Given the description of an element on the screen output the (x, y) to click on. 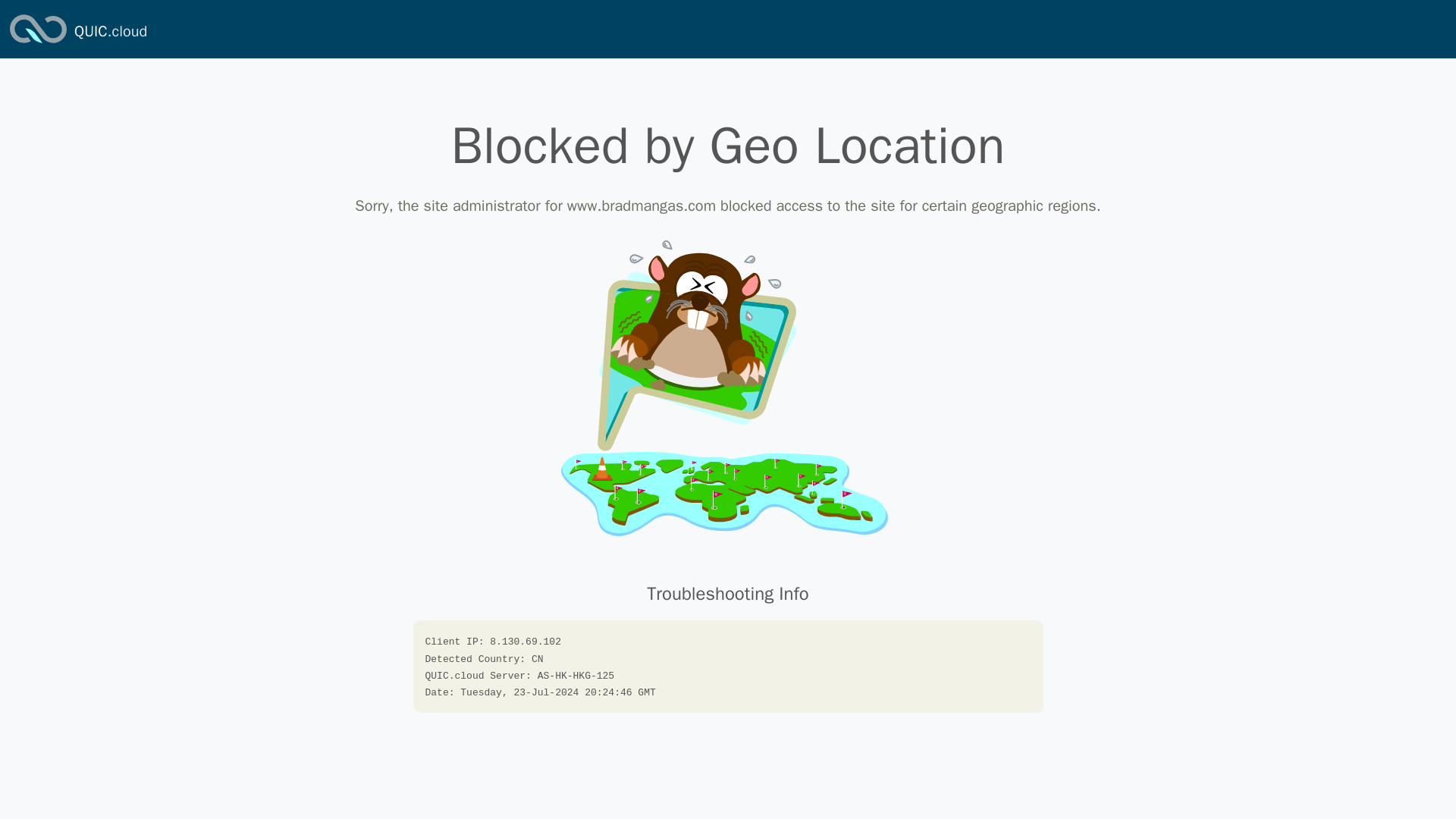
QUIC.cloud (110, 31)
QUIC.cloud (37, 43)
QUIC.cloud (110, 31)
